Given the description of an element on the screen output the (x, y) to click on. 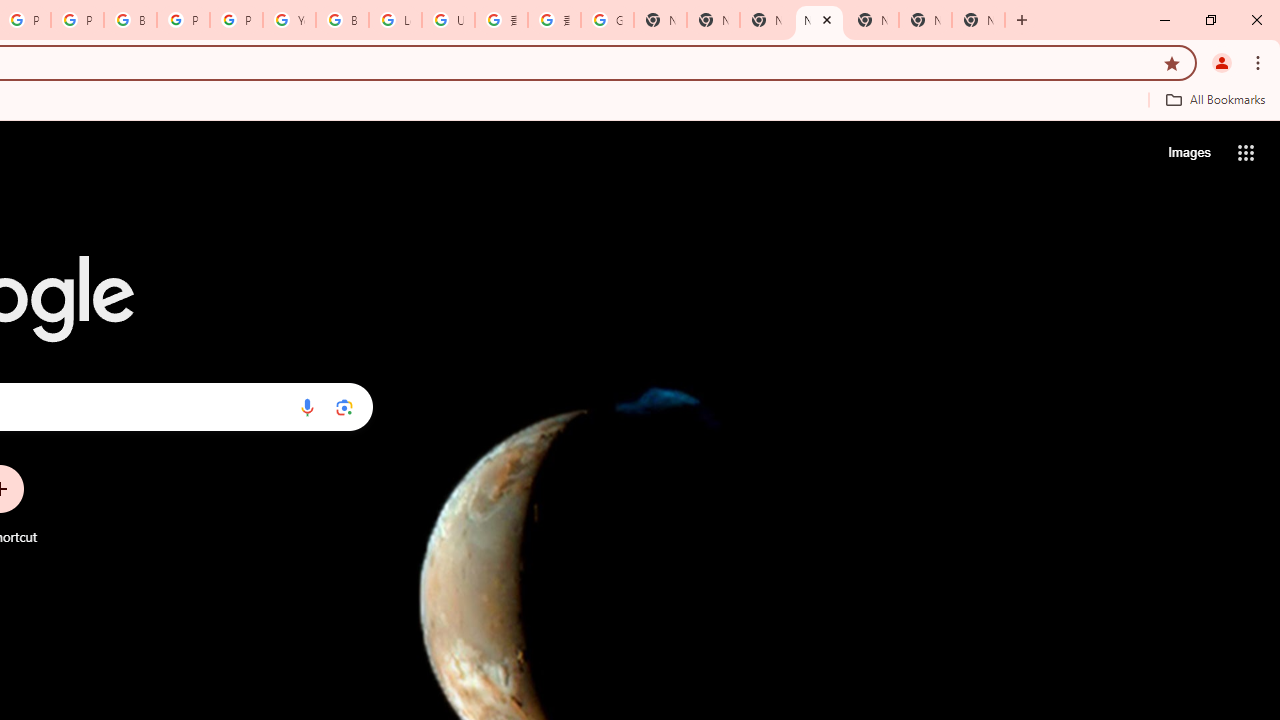
Google Images (607, 20)
New Tab (978, 20)
YouTube (289, 20)
New Tab (819, 20)
